Given the description of an element on the screen output the (x, y) to click on. 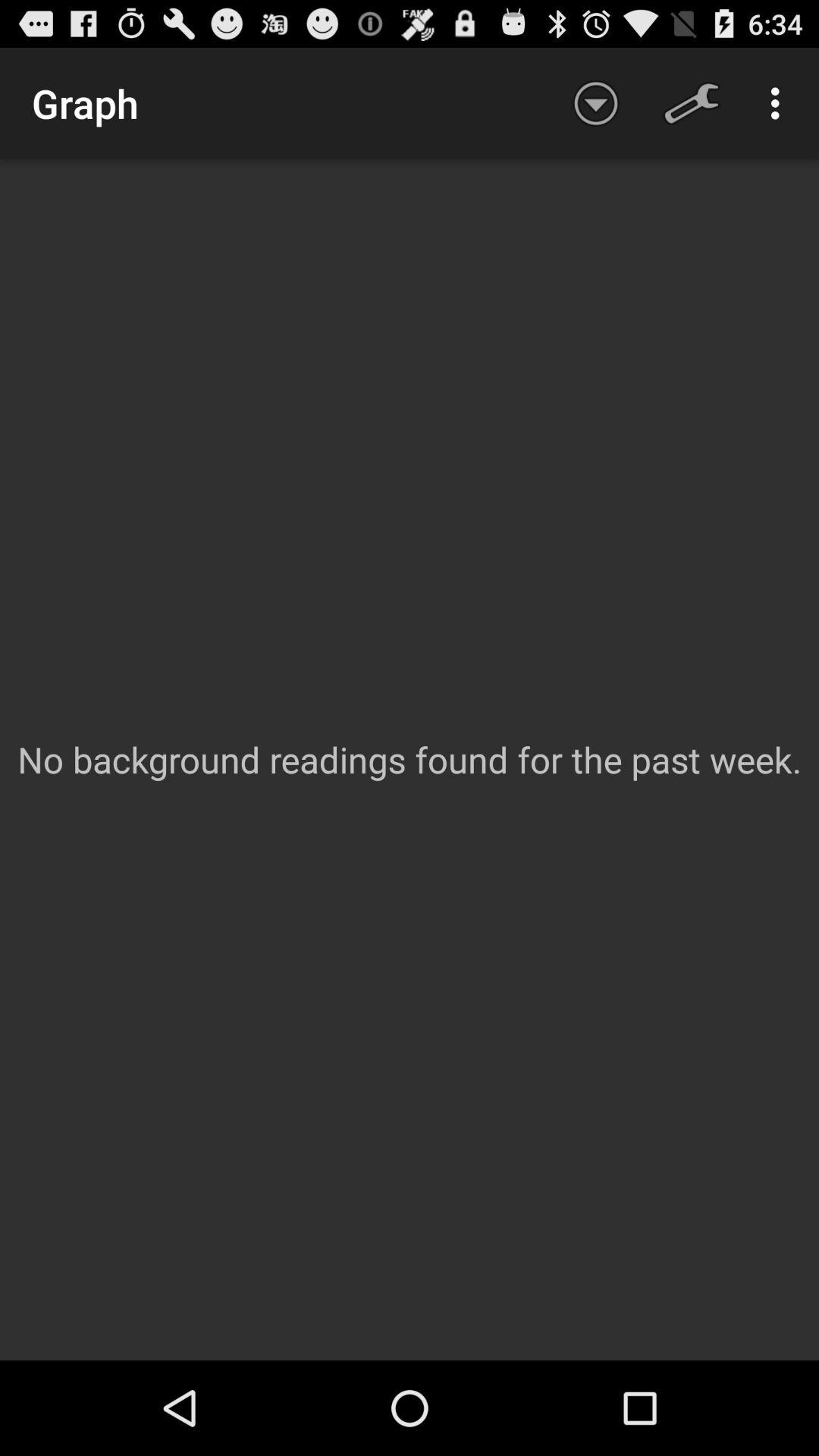
choose the app above the no background readings app (779, 103)
